Given the description of an element on the screen output the (x, y) to click on. 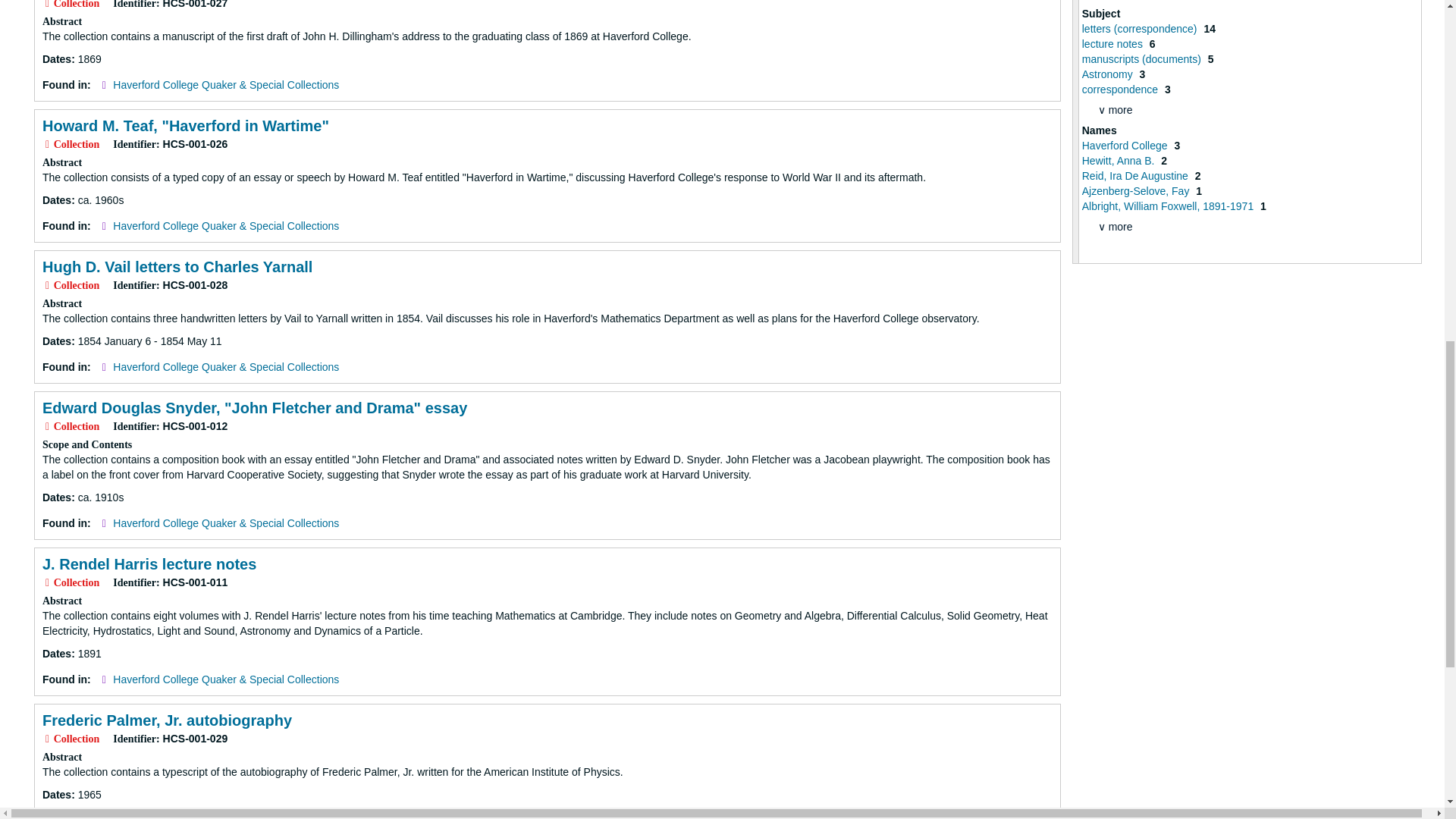
Frederic Palmer, Jr. autobiography (167, 719)
Hugh D. Vail letters to Charles Yarnall (177, 266)
Howard M. Teaf, "Haverford in Wartime" (185, 125)
J. Rendel Harris lecture notes (149, 564)
Edward Douglas Snyder, "John Fletcher and Drama" essay (254, 407)
